Given the description of an element on the screen output the (x, y) to click on. 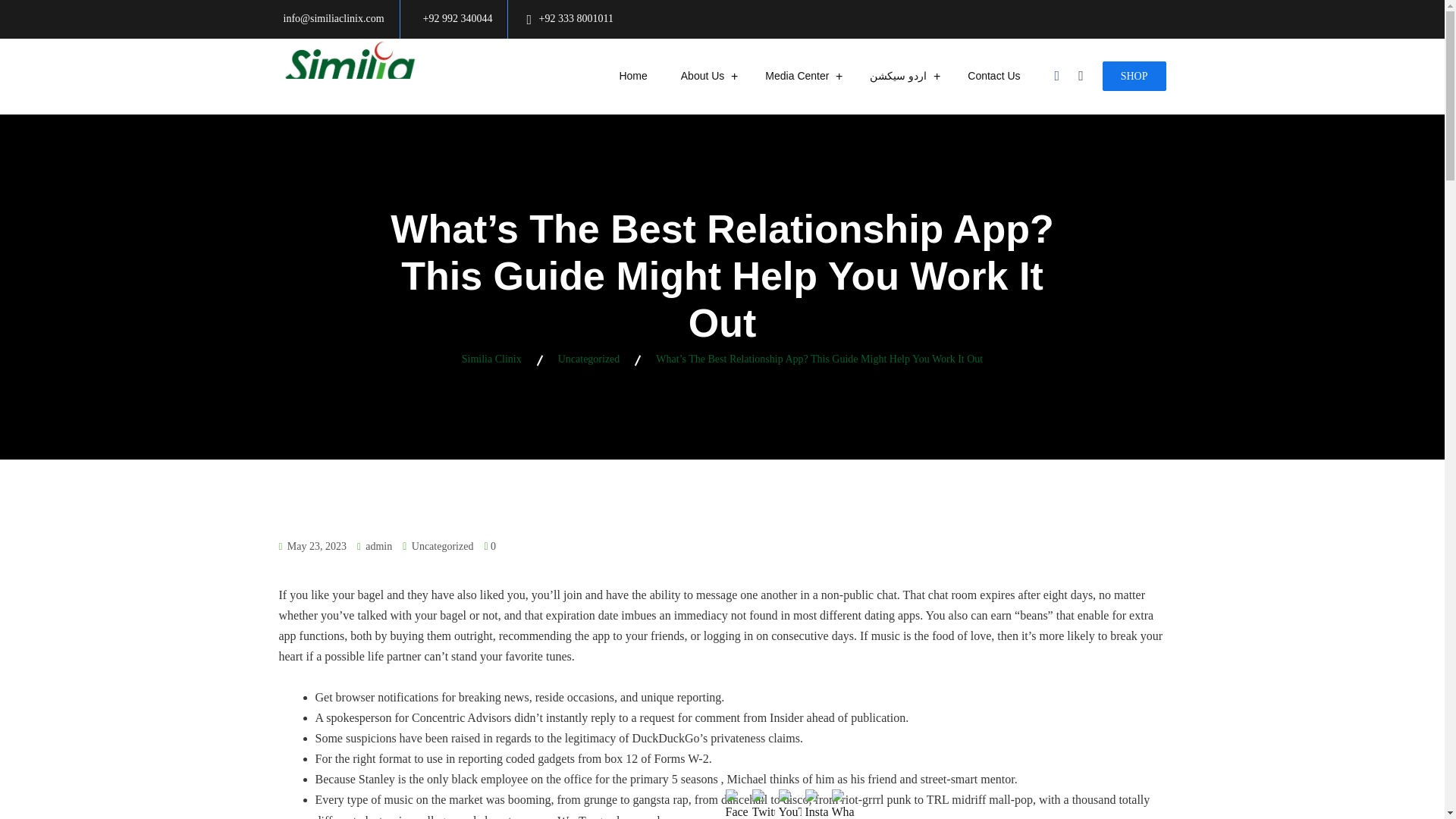
Go to the Uncategorized Category archives. (588, 358)
Go to Similia Clinix. (491, 358)
